Given the description of an element on the screen output the (x, y) to click on. 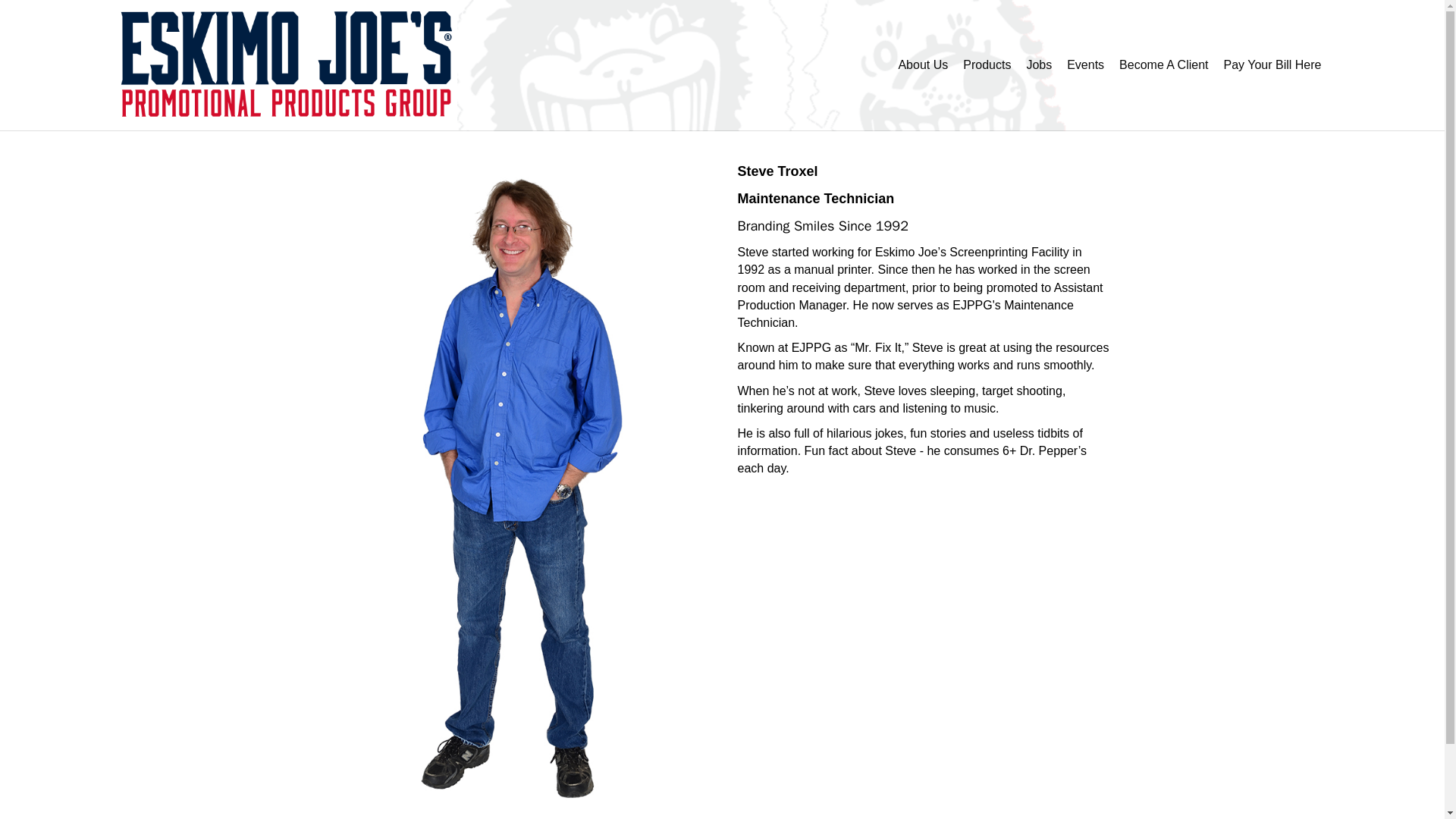
Become A Client (1163, 65)
About Us (922, 65)
Events (1085, 65)
Pay Your Bill Here (1272, 65)
Products (986, 65)
Jobs (1038, 65)
